Given the description of an element on the screen output the (x, y) to click on. 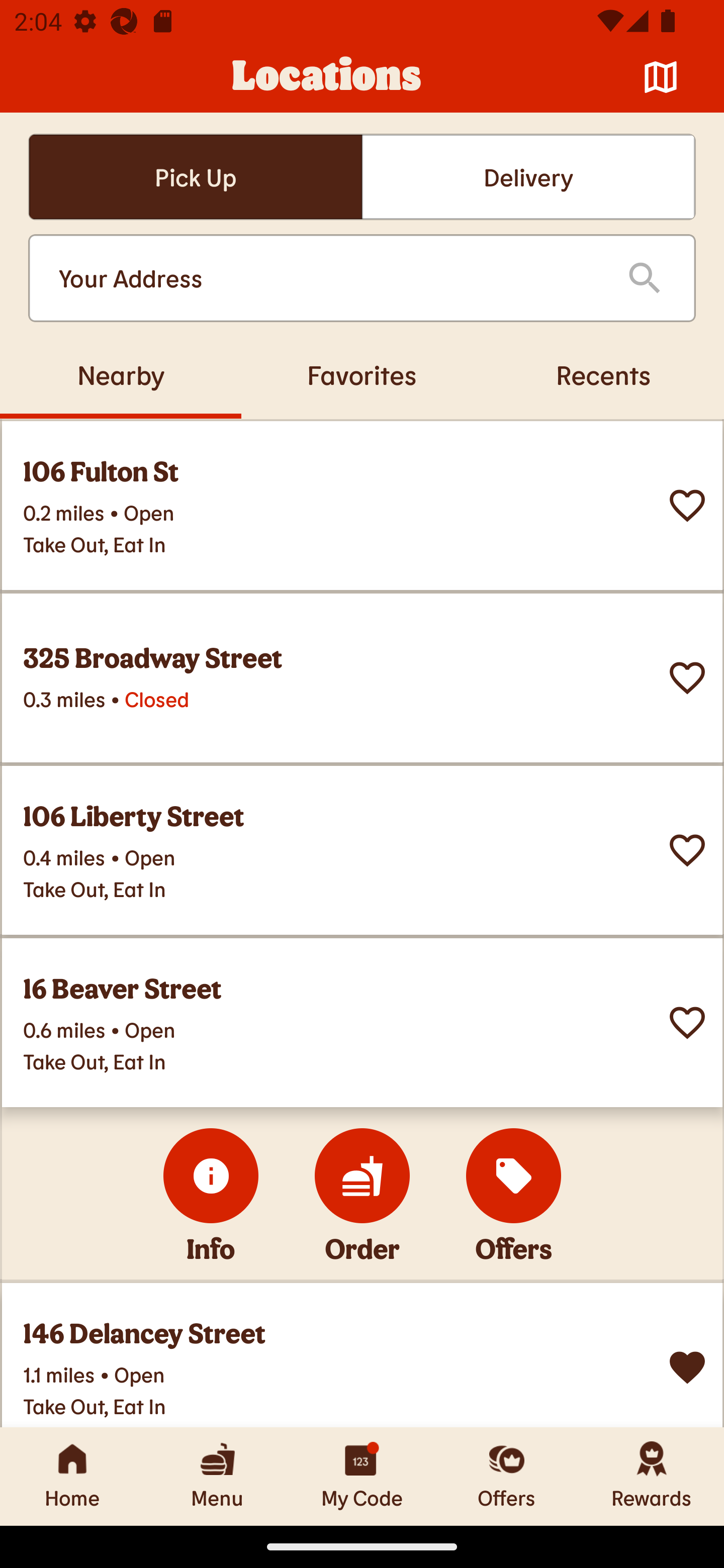
Map 󰦂 (660, 77)
Locations (326, 77)
Pick UpSelected Pick UpSelected Pick Up (195, 176)
Delivery Delivery Delivery (528, 176)
Your Address (327, 277)
Nearby (120, 374)
Favorites (361, 374)
Recents (603, 374)
Set this restaurant as a favorite  (687, 505)
Set this restaurant as a favorite  (687, 677)
Set this restaurant as a favorite  (687, 850)
Set this restaurant as a favorite  (687, 1022)
Info  (210, 1175)
Order (361, 1175)
Offers  (513, 1175)
Remove from Favorites?  (687, 1367)
Home (72, 1475)
Menu (216, 1475)
My Code (361, 1475)
Offers (506, 1475)
Rewards (651, 1475)
